Given the description of an element on the screen output the (x, y) to click on. 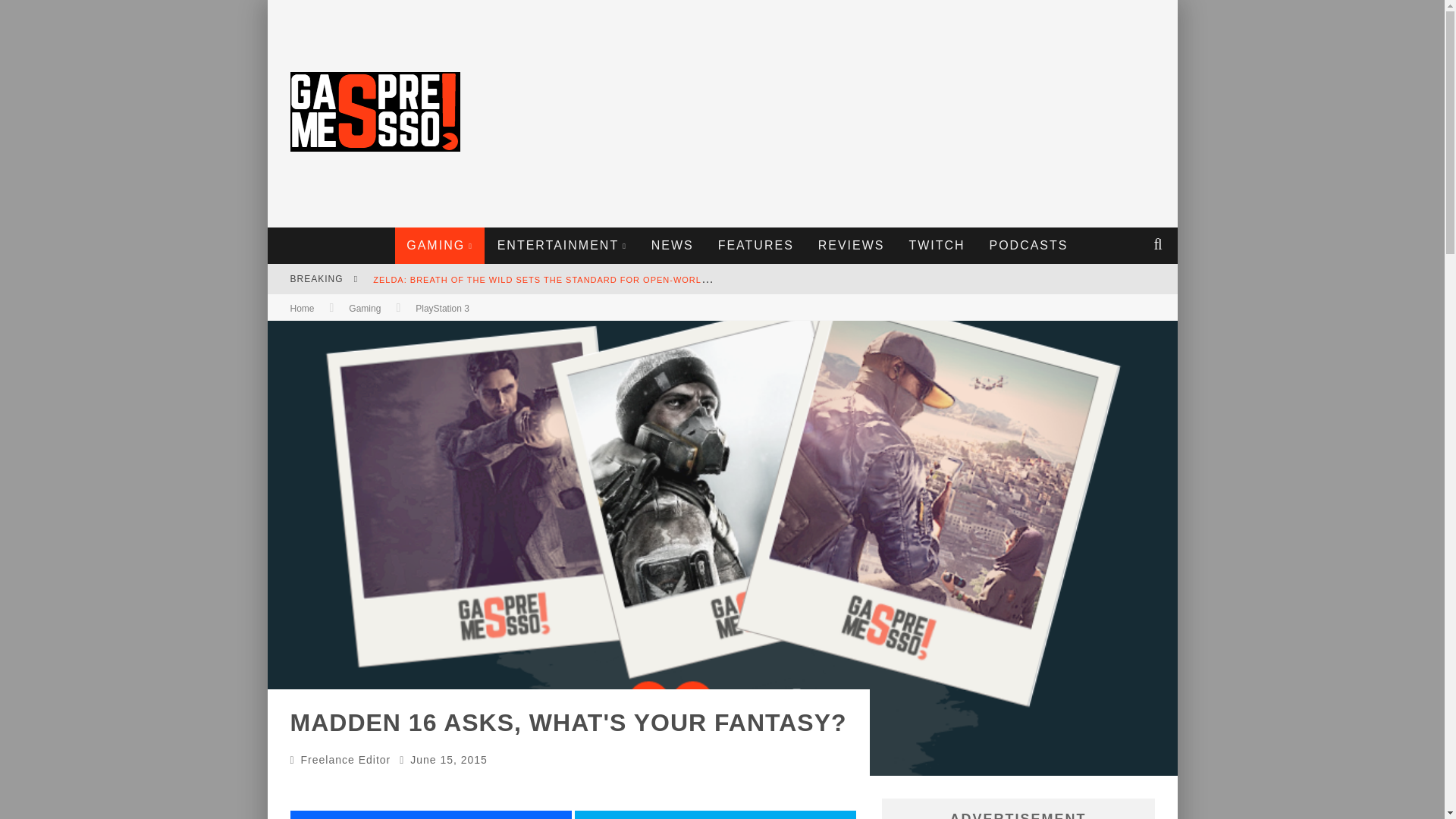
View all posts in PlayStation 3 (441, 308)
Share on Twitter (715, 814)
GAMING (439, 245)
View all posts in Gaming (364, 308)
ENTERTAINMENT (562, 245)
Advertisement (893, 113)
Share on Facebook (429, 814)
